Given the description of an element on the screen output the (x, y) to click on. 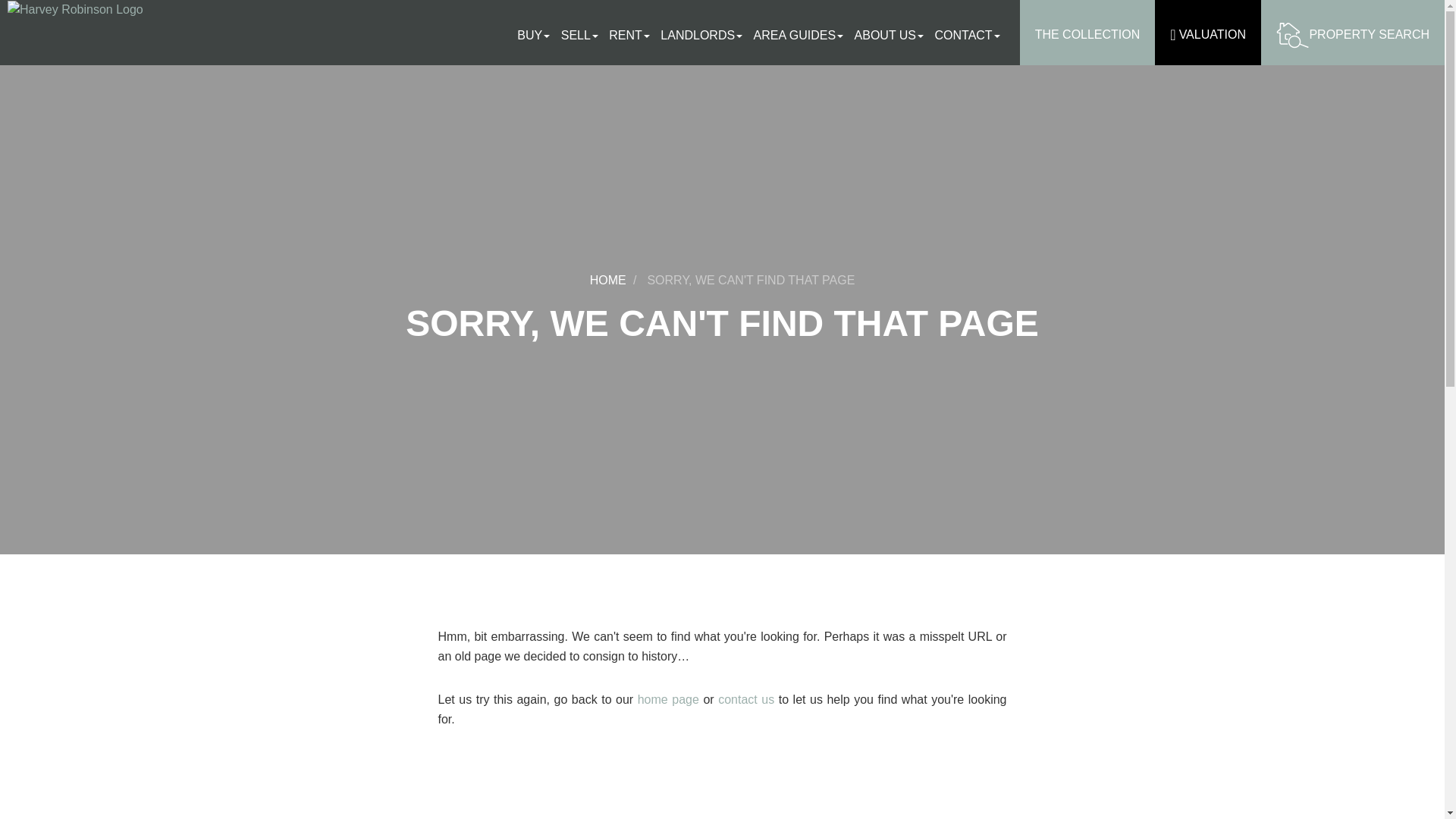
Harvey Robinson (74, 9)
Harvey Robinson (111, 9)
RENT (633, 34)
BUY (536, 34)
VALUATION (1207, 32)
LANDLORDS (705, 34)
AREA GUIDES (802, 34)
THE COLLECTION (1088, 32)
SELL (582, 34)
